Given the description of an element on the screen output the (x, y) to click on. 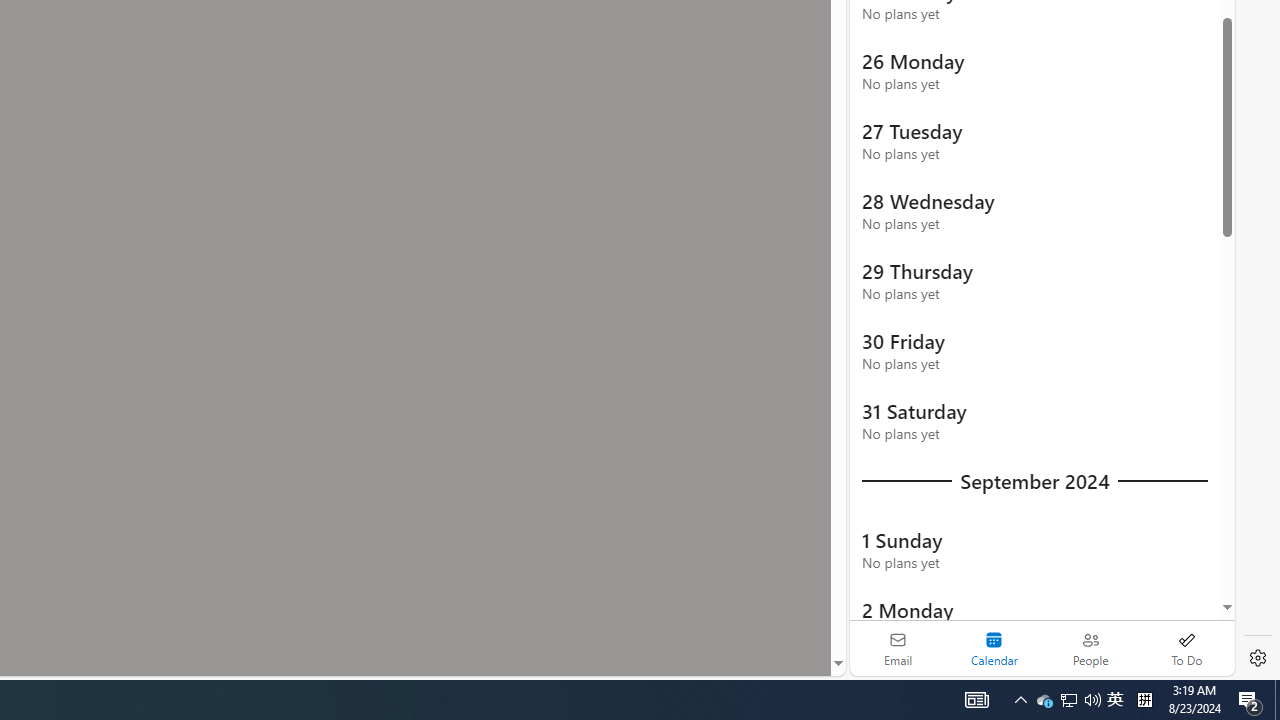
To Do (1186, 648)
People (1090, 648)
Selected calendar module. Date today is 22 (994, 648)
Email (898, 648)
